Given the description of an element on the screen output the (x, y) to click on. 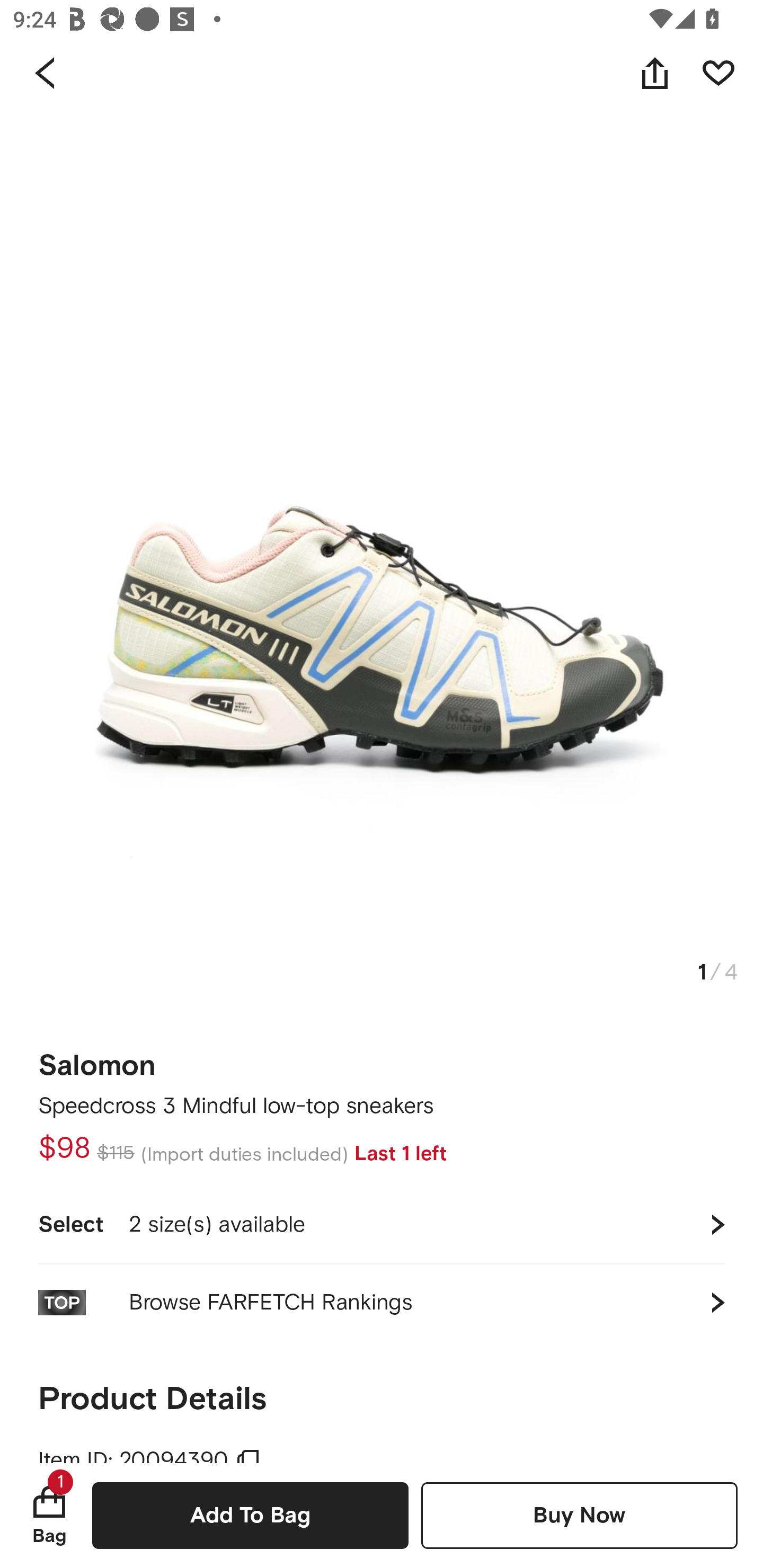
Salomon (97, 1059)
Select 2 size(s) available (381, 1224)
Browse FARFETCH Rankings (381, 1301)
Bag 1 (49, 1515)
Add To Bag (250, 1515)
Buy Now (579, 1515)
